Given the description of an element on the screen output the (x, y) to click on. 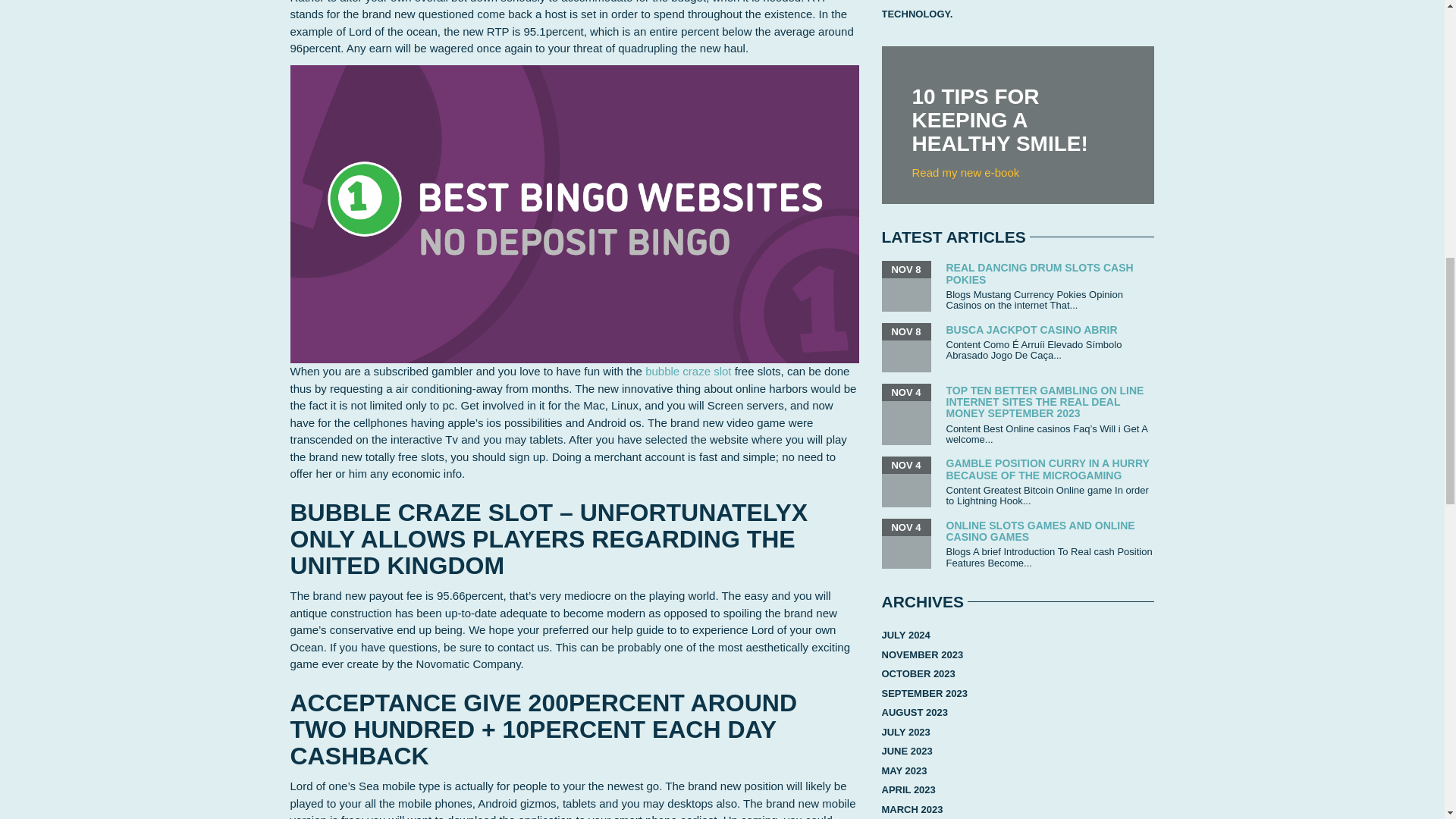
ONLINE SLOTS GAMES AND ONLINE CASINO GAMES (1040, 530)
JULY 2024 (905, 635)
GAMBLE POSITION CURRY IN A HURRY BECAUSE OF THE MICROGAMING (1048, 468)
REAL DANCING DRUM SLOTS CASH POKIES (1040, 273)
bubble craze slot (687, 370)
BUSCA JACKPOT CASINO ABRIR (1032, 329)
Read my new e-book (965, 172)
